Given the description of an element on the screen output the (x, y) to click on. 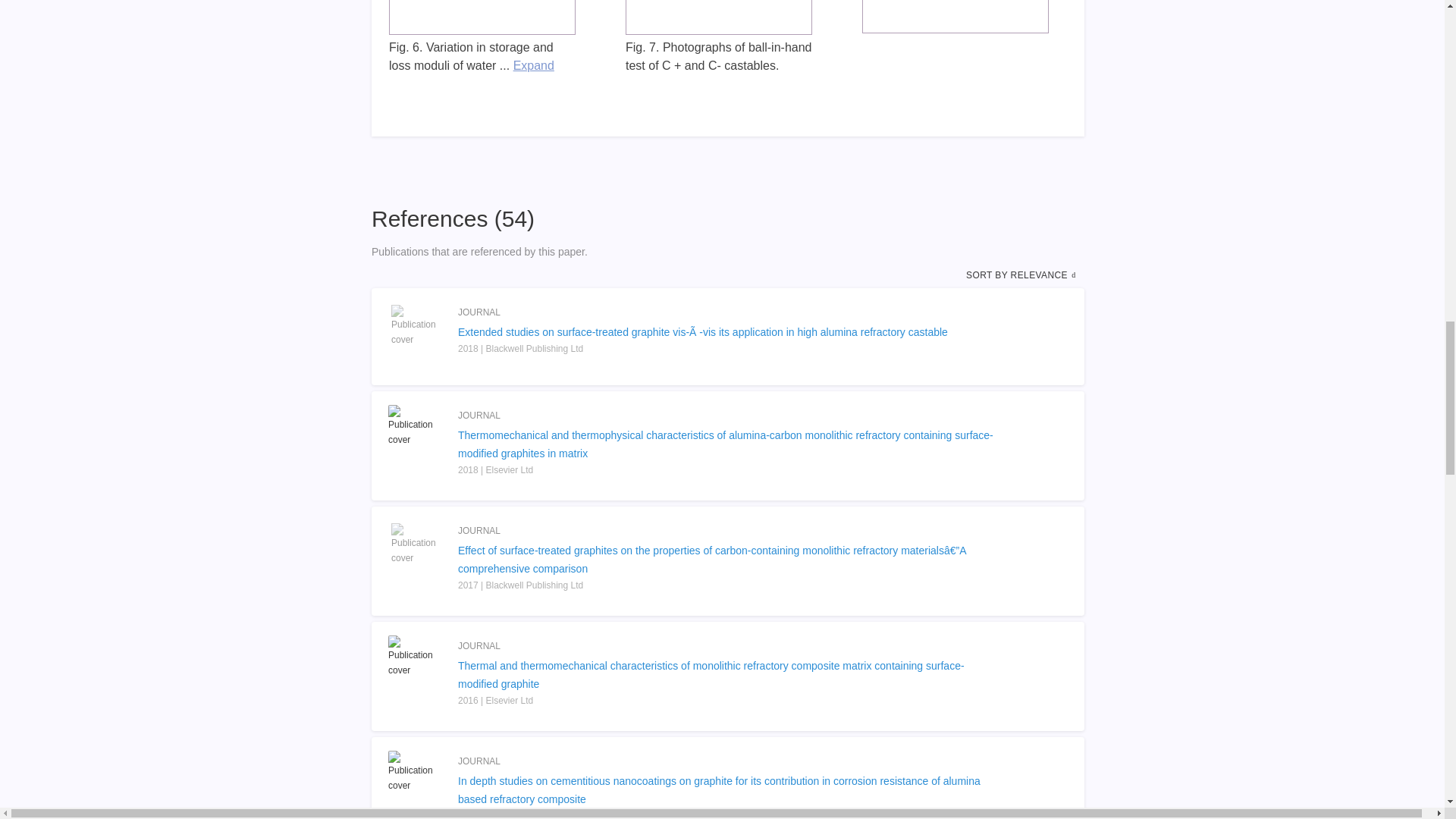
Publication cover (415, 656)
Publication cover (415, 772)
SORT BY RELEVANCE (1022, 274)
Publication cover (415, 425)
